Given the description of an element on the screen output the (x, y) to click on. 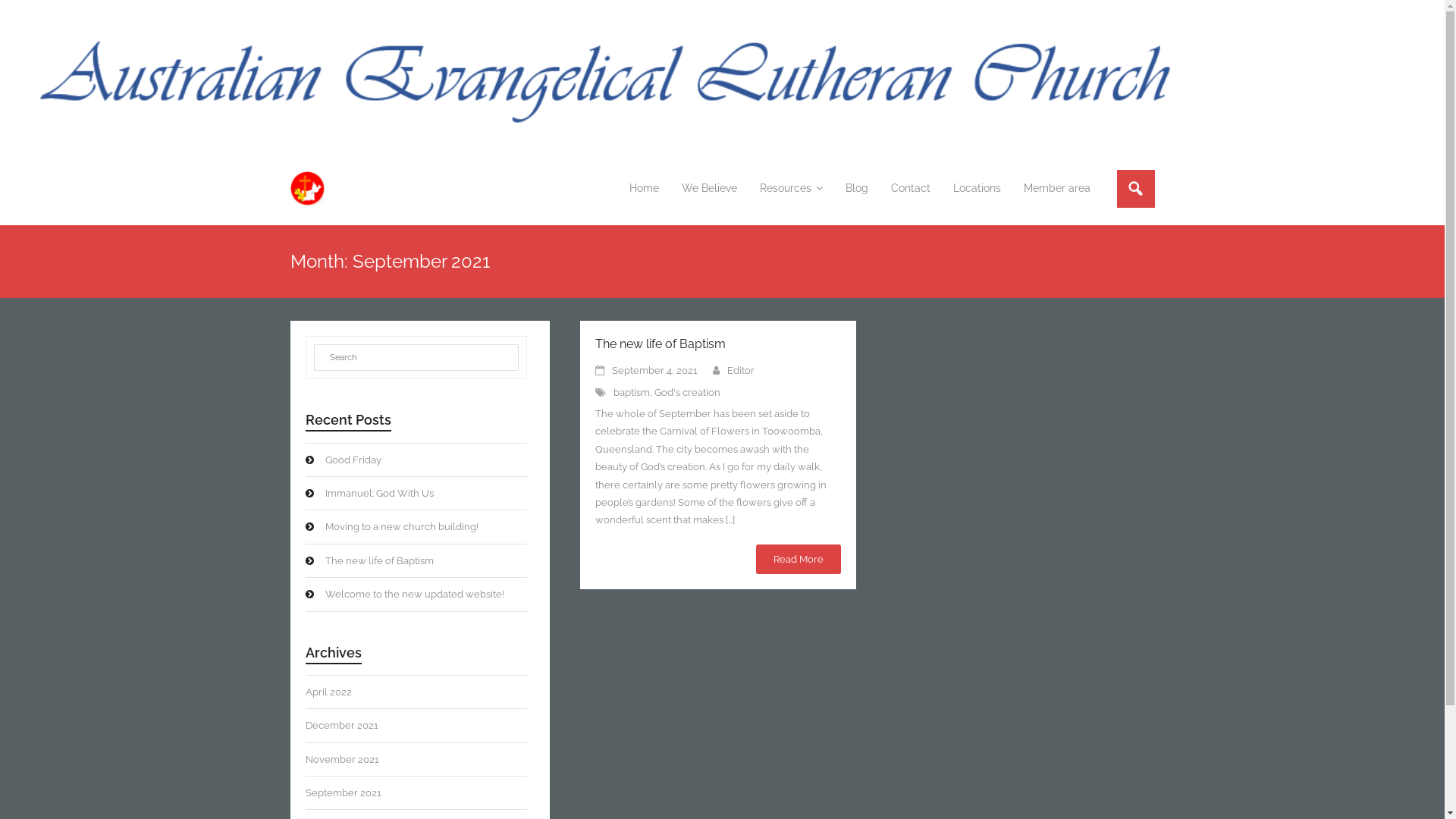
Moving to a new church building! Element type: text (390, 526)
Read More Element type: text (797, 559)
Blog Element type: text (856, 188)
Search Element type: text (31, 13)
December 2021 Element type: text (340, 725)
Locations Element type: text (976, 188)
baptism Element type: text (630, 392)
September 4, 2021 Element type: text (653, 370)
God's creation Element type: text (686, 392)
The new life of Baptism Element type: text (368, 560)
Immanuel: God With Us Element type: text (368, 492)
We Believe Element type: text (709, 188)
September 2021 Element type: text (342, 792)
Resources Element type: text (790, 188)
April 2022 Element type: text (327, 691)
Editor Element type: text (739, 370)
Contact Element type: text (910, 188)
November 2021 Element type: text (341, 759)
The new life of Baptism Element type: text (659, 343)
Member area Element type: text (1056, 188)
Home Element type: text (643, 188)
Search Element type: text (29, 12)
Good Friday Element type: text (342, 459)
Welcome to the new updated website! Element type: text (403, 593)
